Given the description of an element on the screen output the (x, y) to click on. 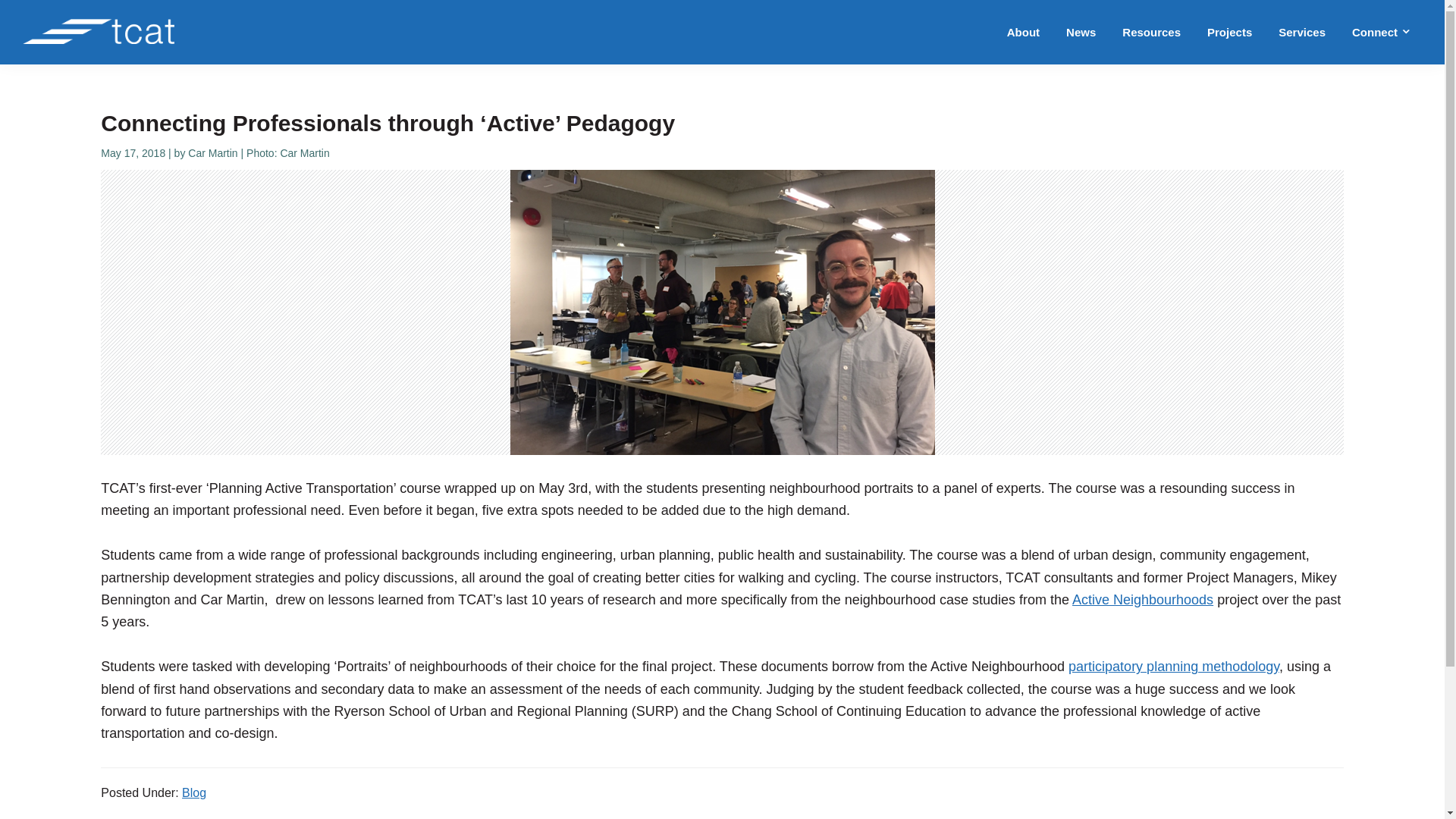
participatory planning methodology (1173, 666)
Blog (194, 792)
Active Neighbourhoods (1141, 599)
Projects (1229, 32)
Resources (1151, 32)
The Centre for Active Transportation (76, 81)
Services (1301, 32)
Connect (1381, 32)
